Given the description of an element on the screen output the (x, y) to click on. 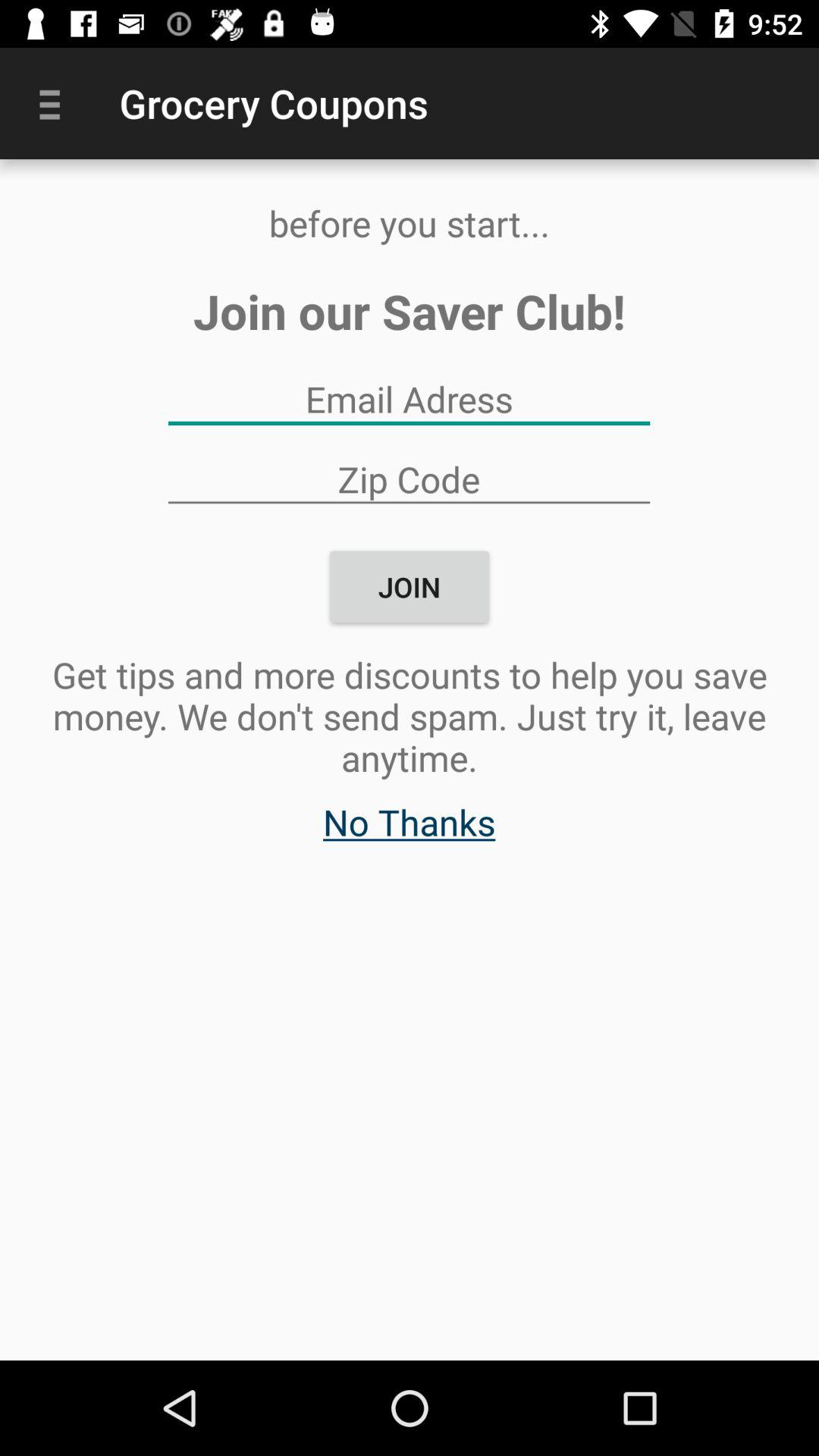
text box for entering zipcode (409, 479)
